Given the description of an element on the screen output the (x, y) to click on. 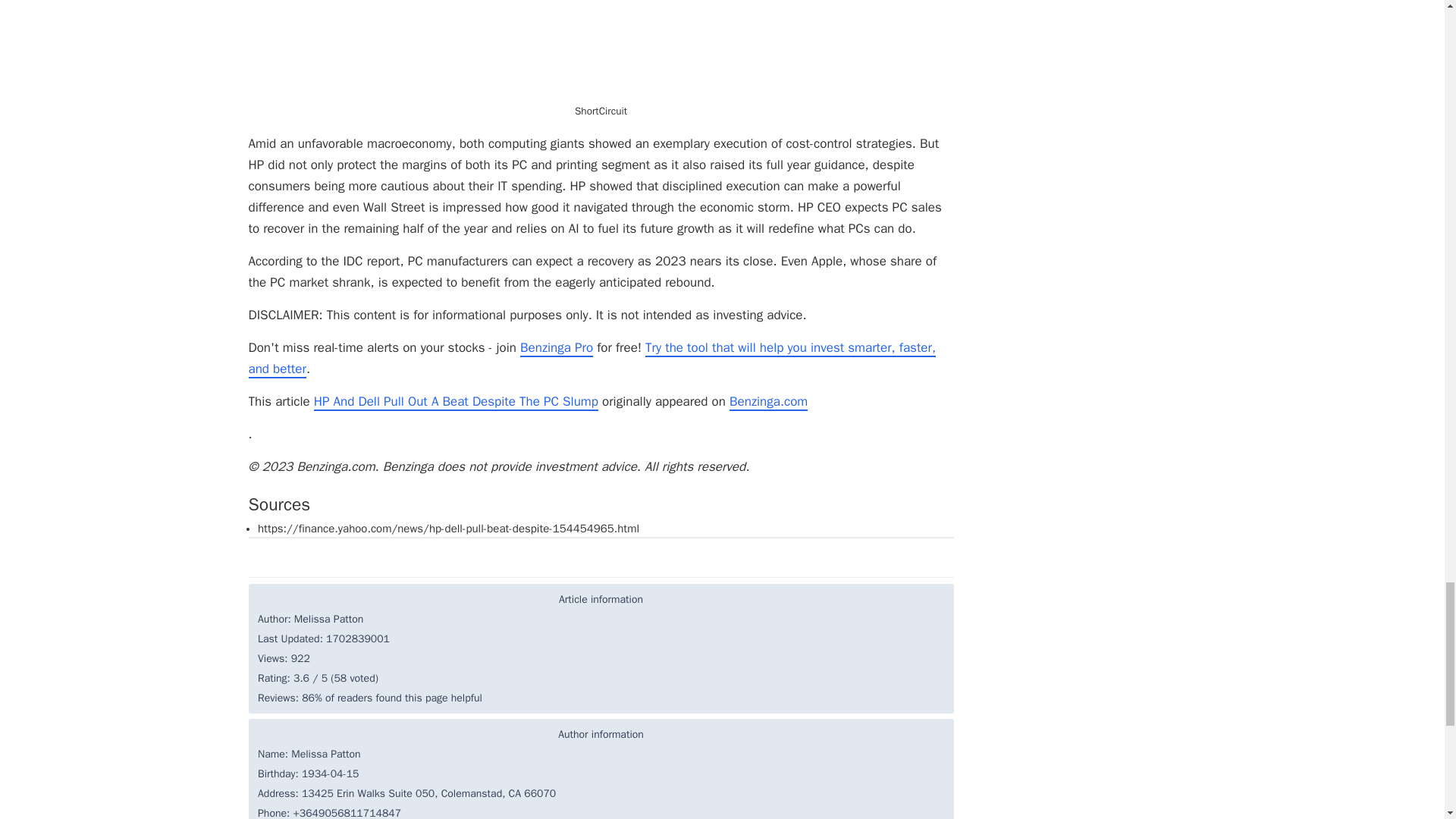
Benzinga.com (768, 401)
Did HP make a Dell XPS 15 killer??? - Envy 15 (600, 49)
HP And Dell Pull Out A Beat Despite The PC Slump (456, 401)
Benzinga Pro (555, 348)
